Given the description of an element on the screen output the (x, y) to click on. 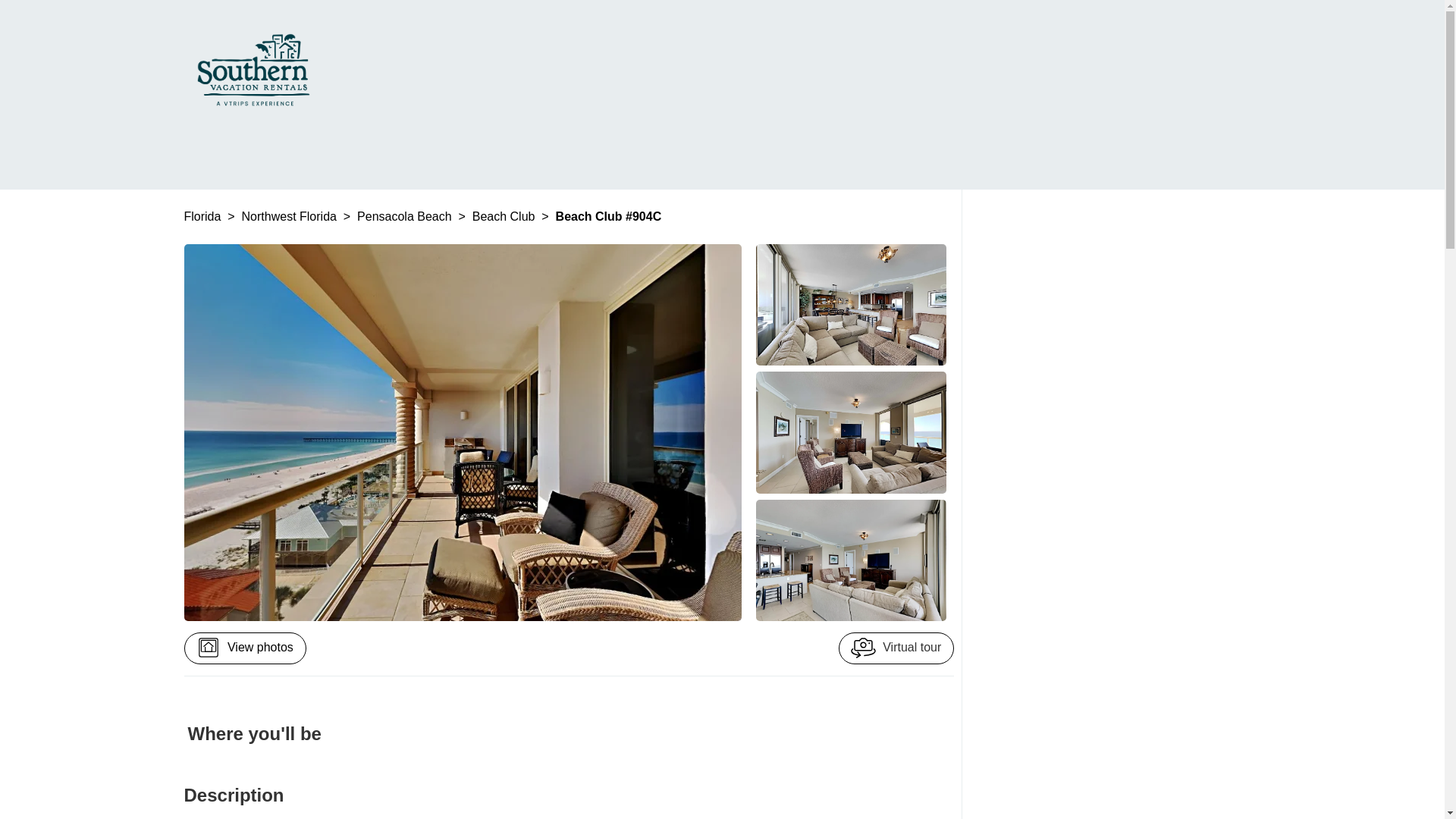
Living Room (850, 432)
Pensacola Beach (405, 215)
View photos (244, 648)
Living Room (850, 304)
Living Area (850, 559)
Beach Club (504, 215)
Virtual tour (896, 648)
Florida (203, 215)
Northwest Florida (290, 215)
